Given the description of an element on the screen output the (x, y) to click on. 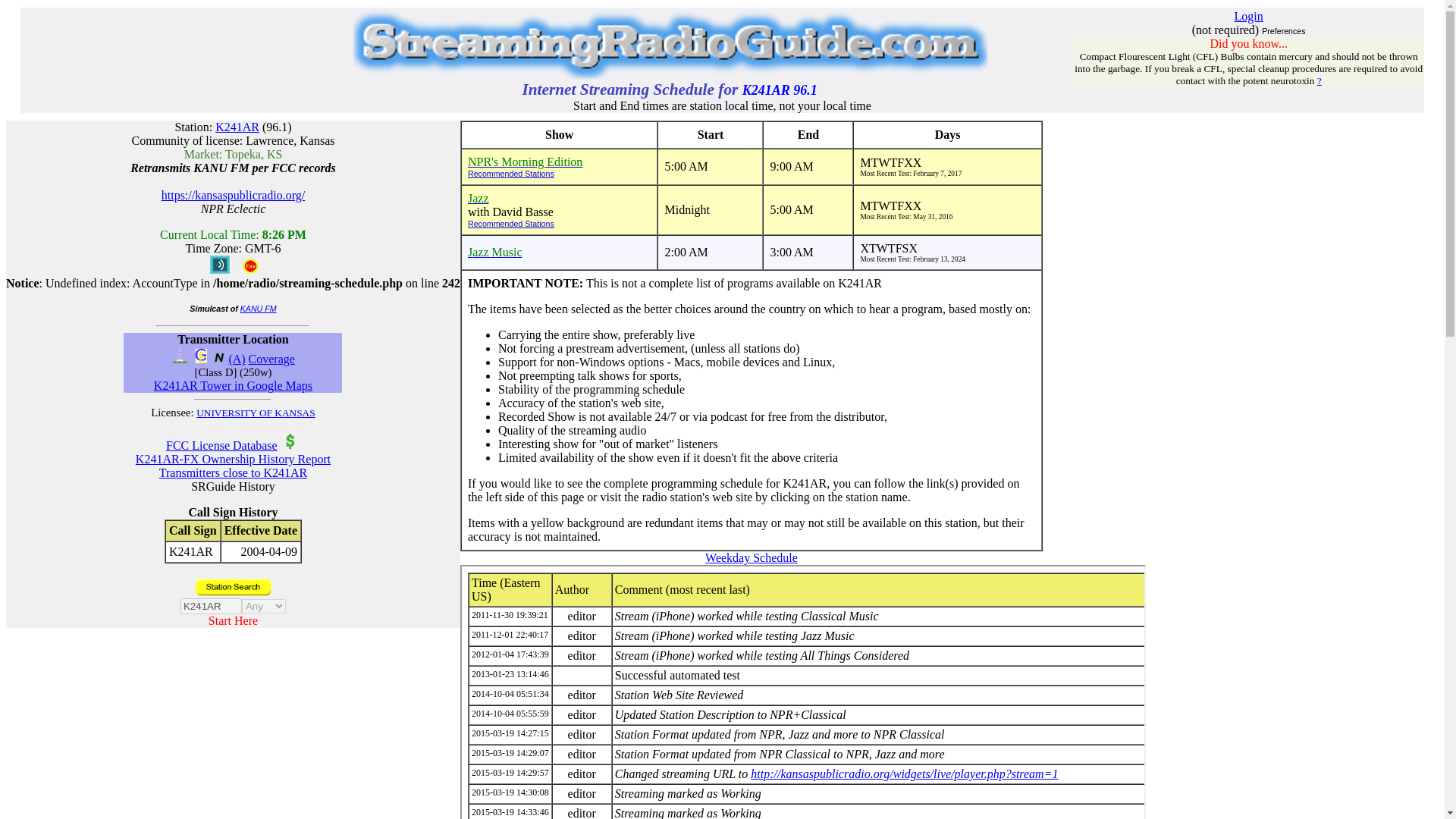
Preferences (1283, 31)
Recommended Stations (558, 223)
UNIVERSITY OF KANSAS (255, 412)
Coverage (271, 358)
K241AR (237, 126)
Parent Organization (290, 441)
K241AR Tower in Google Maps (233, 385)
Find Station (232, 586)
NPR's Morning Edition (524, 161)
Kansas Public Radio (478, 197)
K241AR Tower in Google Maps (233, 385)
Kansas Public Radio (524, 161)
KANU FM (258, 307)
Show K241AR in Google Earth (201, 358)
Jazz (478, 197)
